Given the description of an element on the screen output the (x, y) to click on. 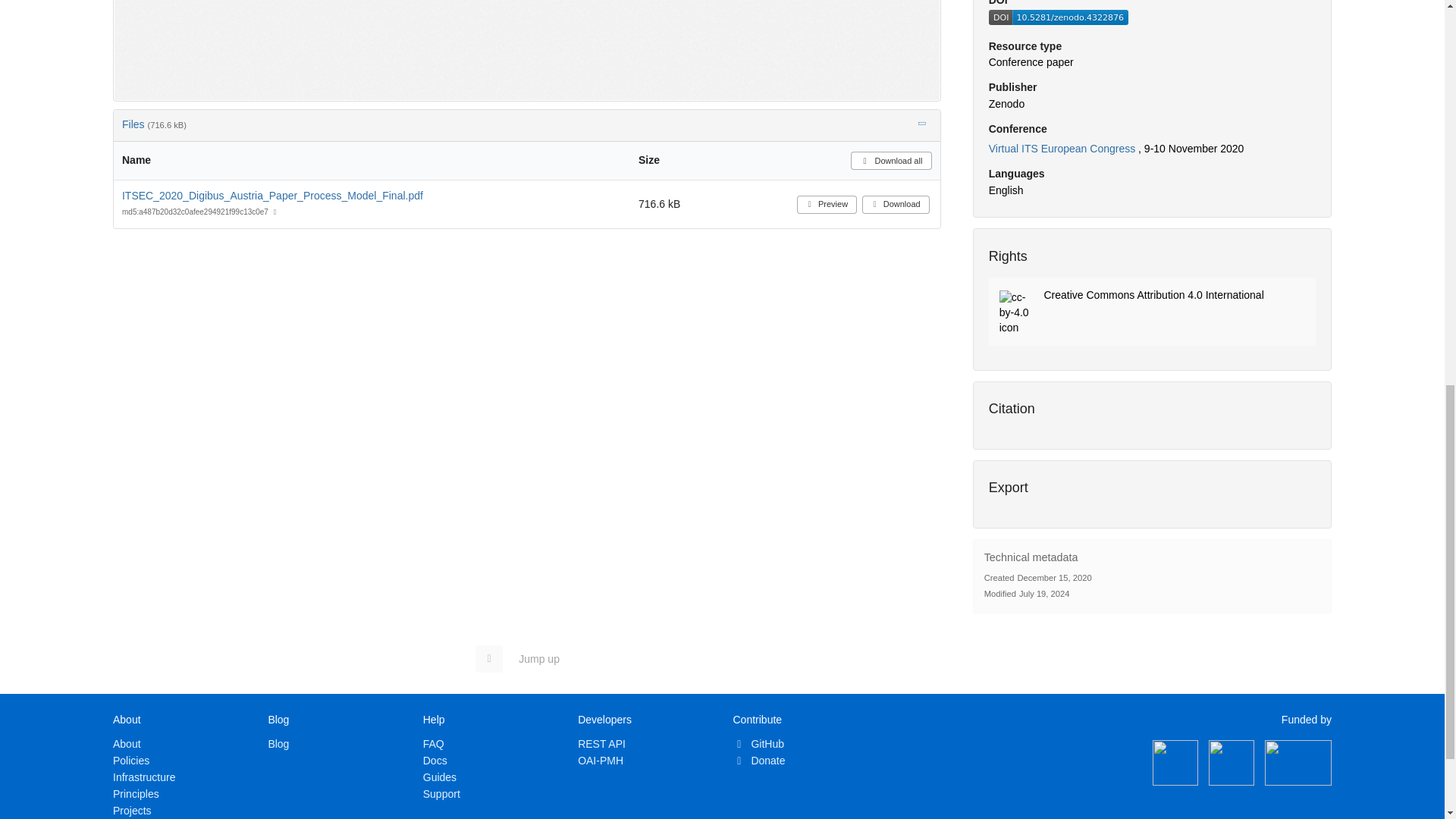
Projects (132, 810)
Policies (131, 760)
Jump up (525, 658)
Guides (440, 776)
Preview (826, 204)
Docs (434, 760)
About (127, 743)
Blog (277, 743)
FAQ (433, 743)
Download (895, 204)
